Given the description of an element on the screen output the (x, y) to click on. 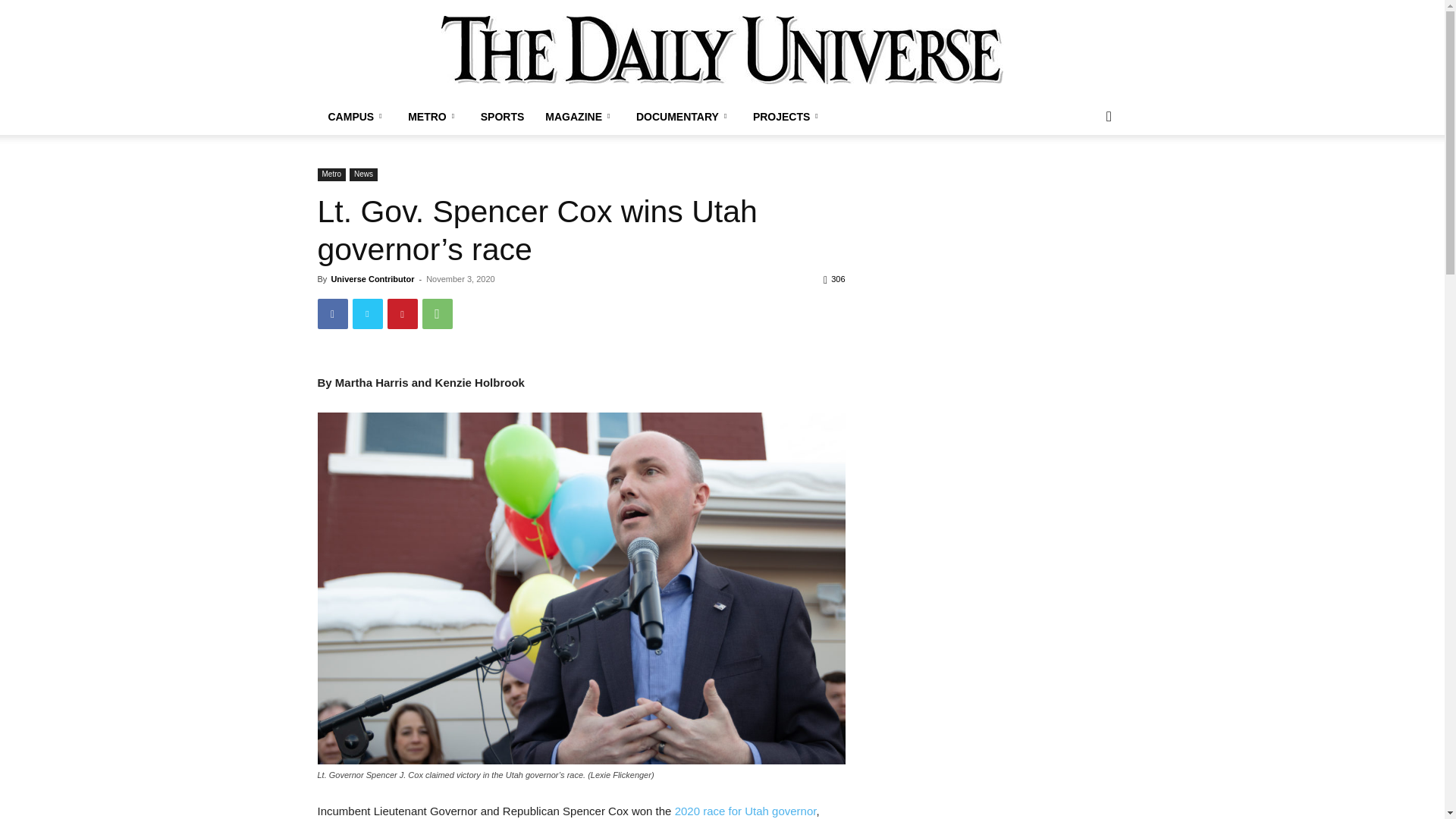
Pinterest (401, 313)
WhatsApp (436, 313)
Twitter (366, 313)
Facebook (332, 313)
